Given the description of an element on the screen output the (x, y) to click on. 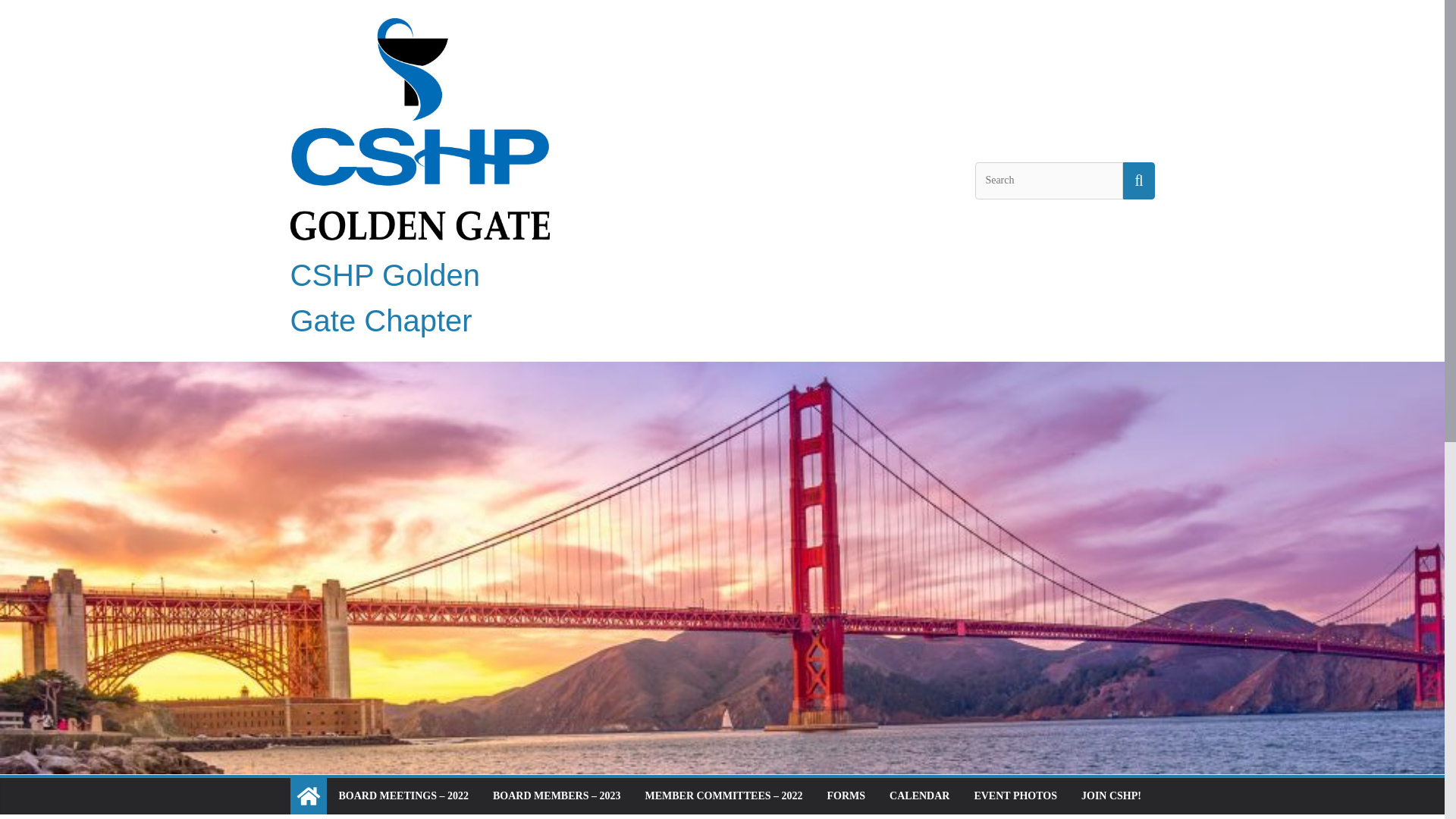
CSHP Golden Gate Chapter (384, 297)
CALENDAR (919, 795)
CSHP Golden Gate Chapter (307, 796)
JOIN CSHP! (1111, 795)
FORMS (846, 795)
CSHP Golden Gate Chapter (384, 297)
EVENT PHOTOS (1015, 795)
